Given the description of an element on the screen output the (x, y) to click on. 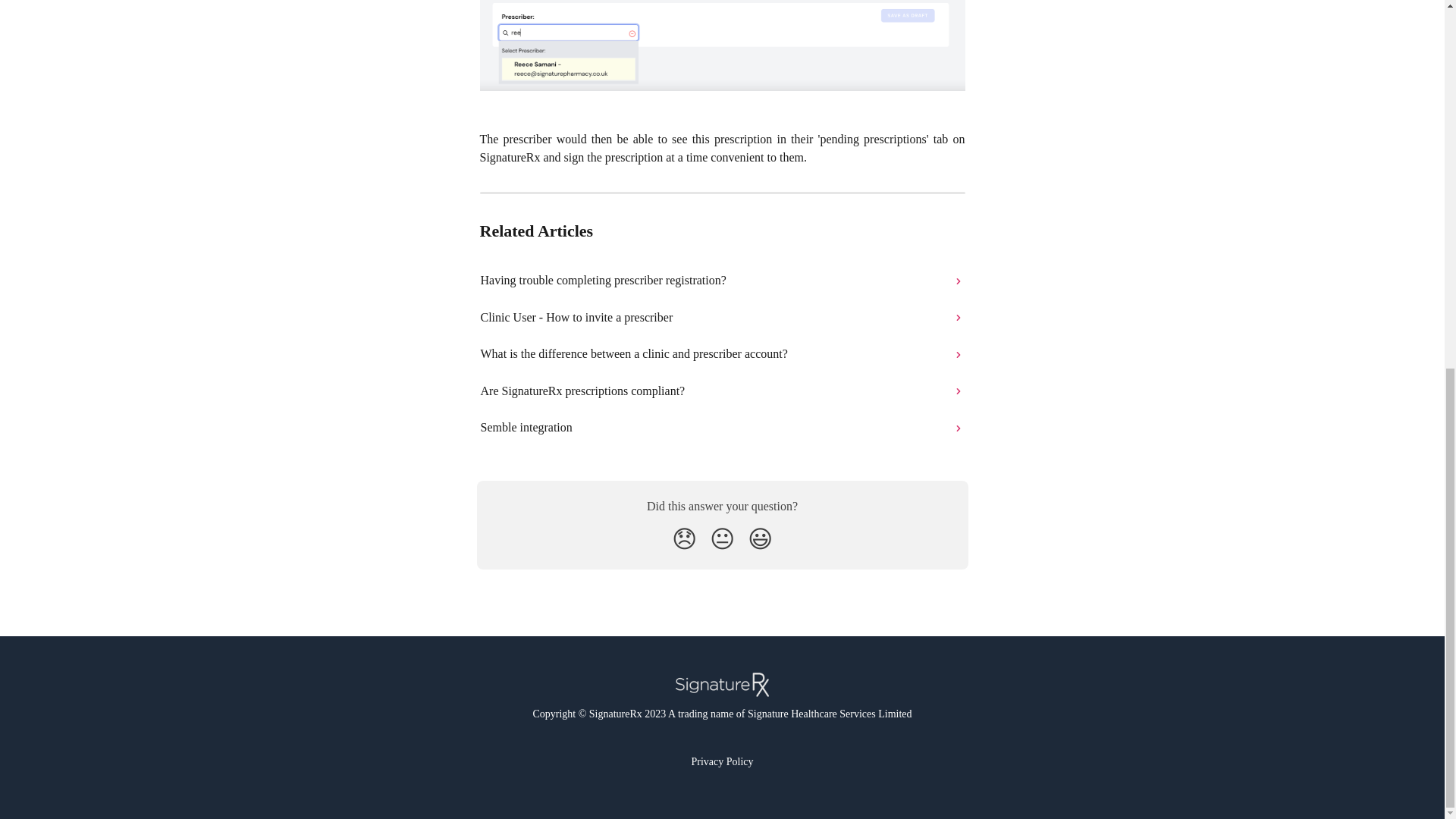
Are SignatureRx prescriptions compliant? (722, 391)
Disappointed (684, 538)
Smiley (760, 538)
Clinic User - How to invite a prescriber (722, 317)
Having trouble completing prescriber registration? (722, 280)
Semble integration (722, 427)
Neutral (722, 538)
Privacy Policy (721, 761)
